Given the description of an element on the screen output the (x, y) to click on. 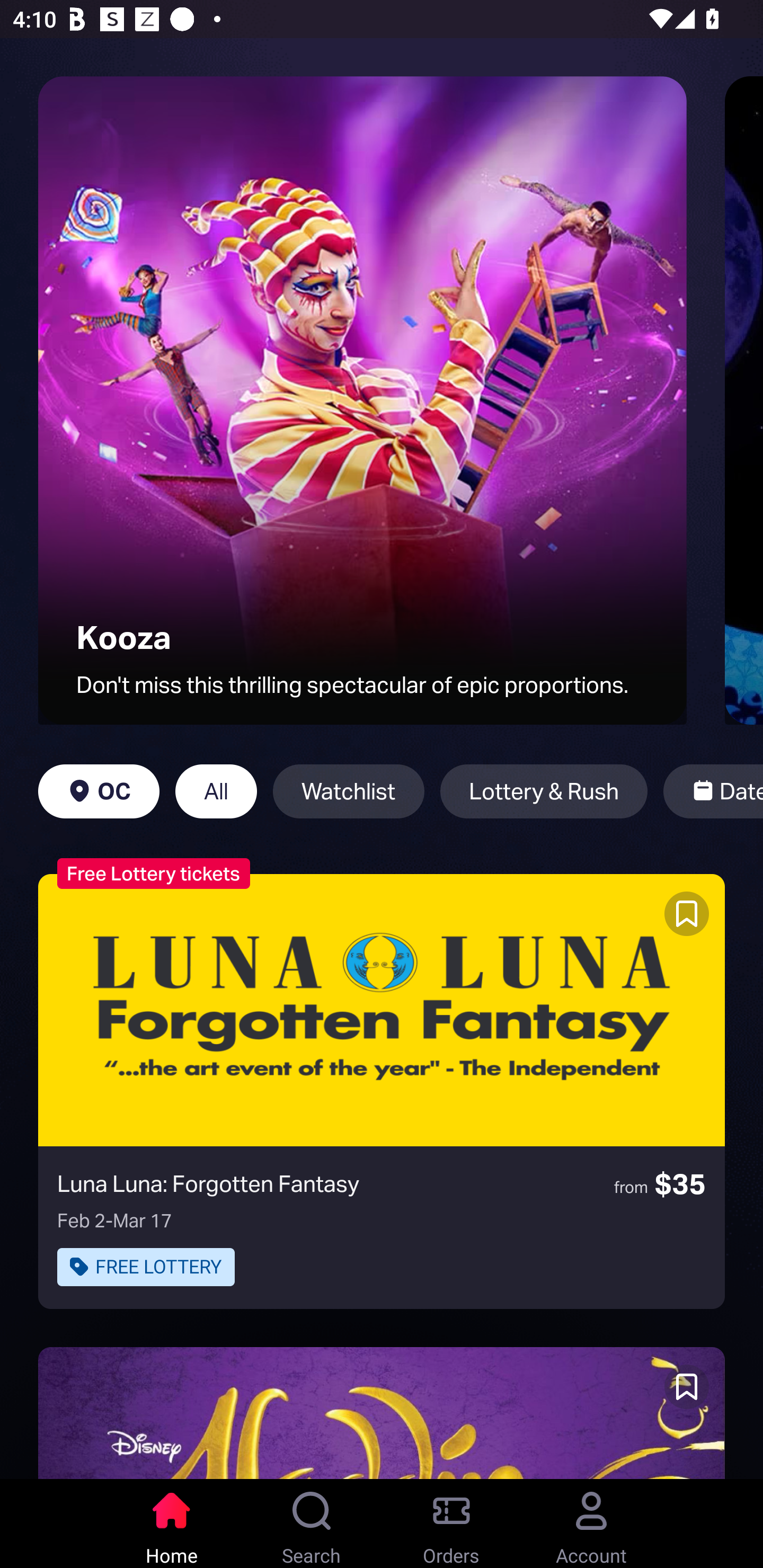
OC (98, 791)
All (216, 791)
Watchlist (348, 791)
Lottery & Rush (543, 791)
Search (311, 1523)
Orders (451, 1523)
Account (591, 1523)
